Given the description of an element on the screen output the (x, y) to click on. 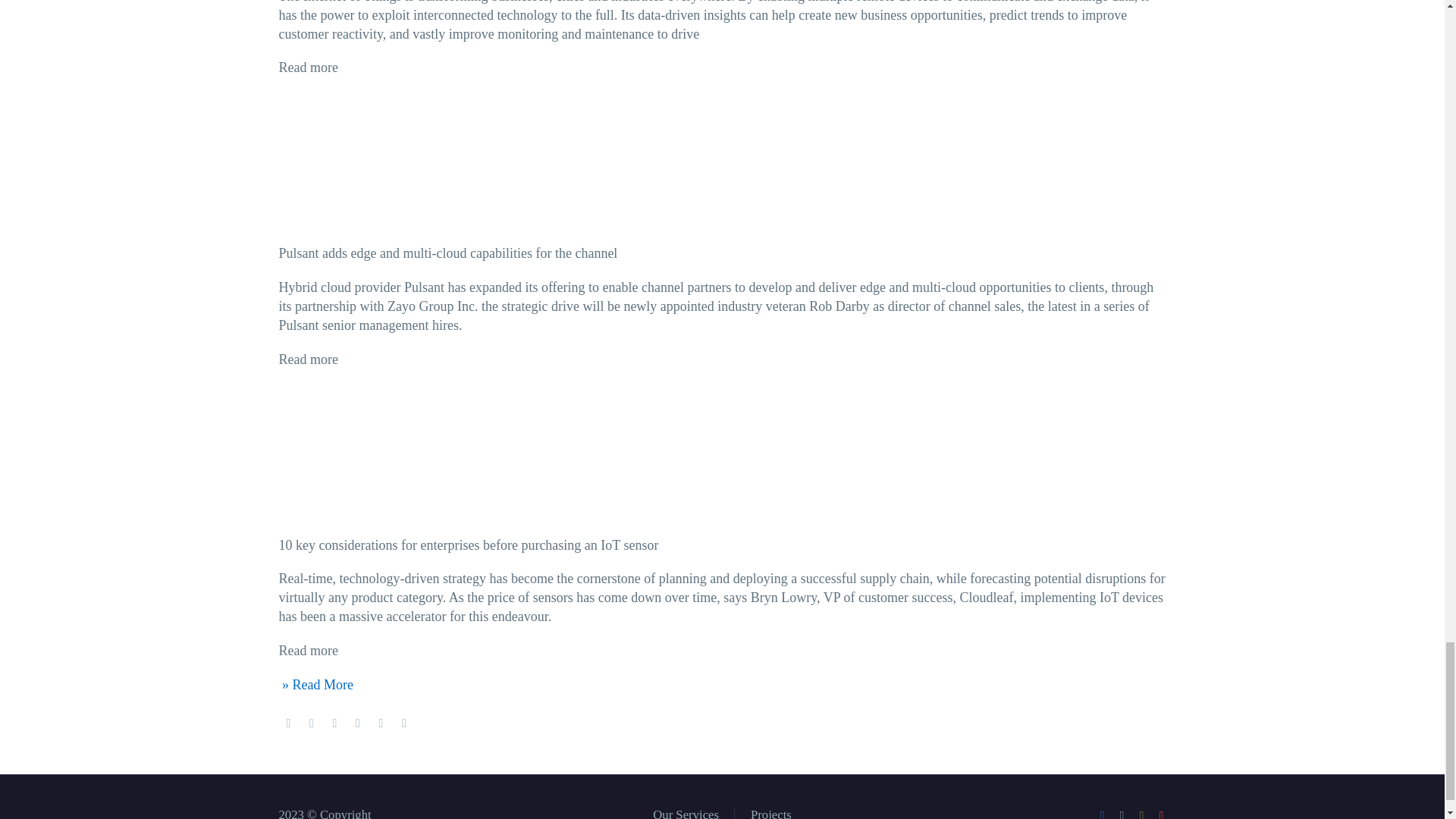
Reddit (403, 723)
Twitter (1122, 814)
Facebook (1102, 814)
Instagram (1141, 814)
Tumblr (358, 723)
Facebook (288, 723)
Twitter (311, 723)
Pinterest (1161, 814)
Pinterest (334, 723)
LinkedIn (380, 723)
